Given the description of an element on the screen output the (x, y) to click on. 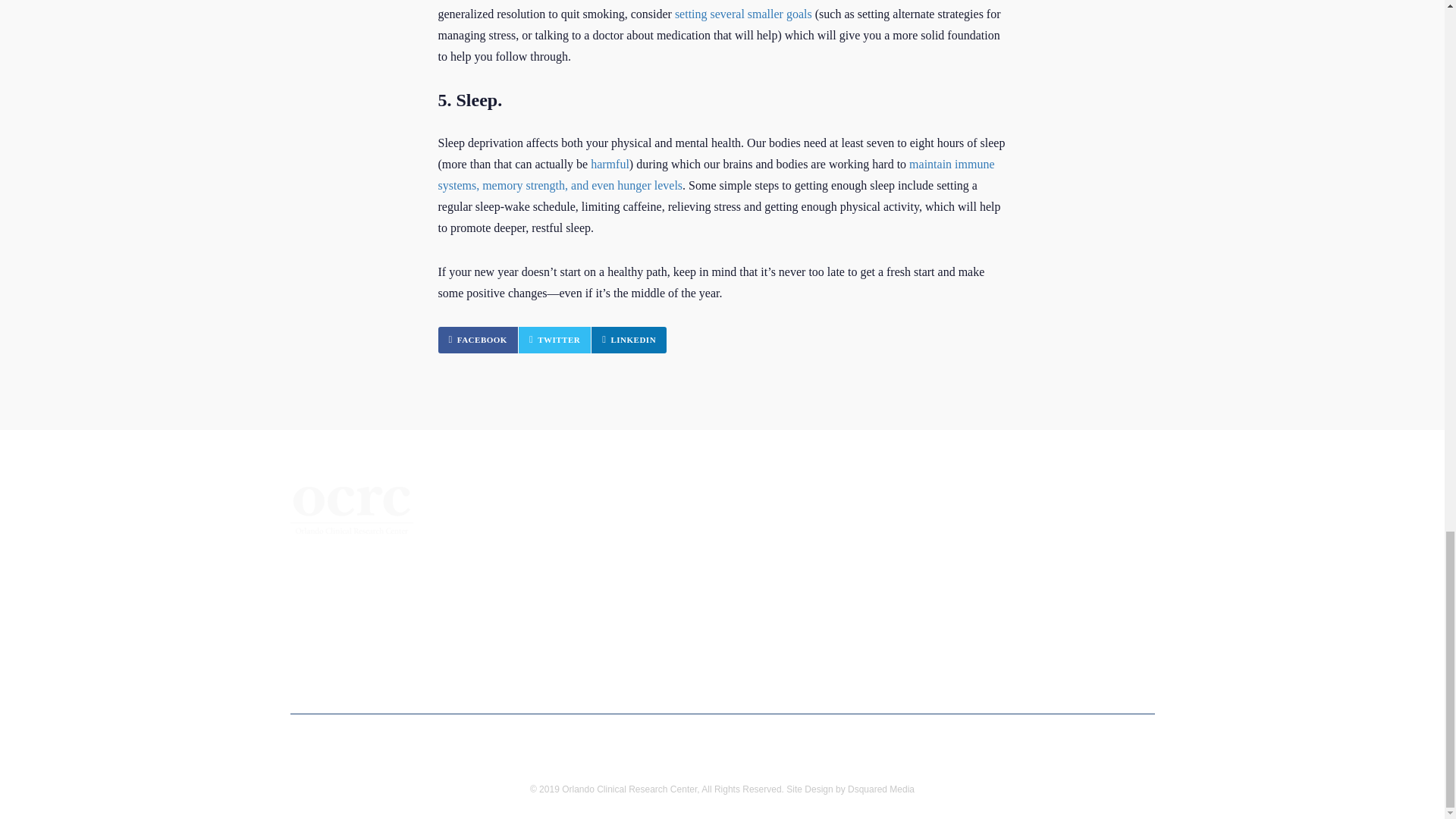
About Us (535, 555)
Twitter (554, 339)
FACEBOOK (478, 339)
setting several smaller goals (743, 13)
407.240.7878 (355, 564)
harmful (609, 164)
LINKEDIN (628, 339)
Dsquared Media (880, 788)
TWITTER (554, 339)
Home (526, 528)
407.240.7878 (355, 564)
